Given the description of an element on the screen output the (x, y) to click on. 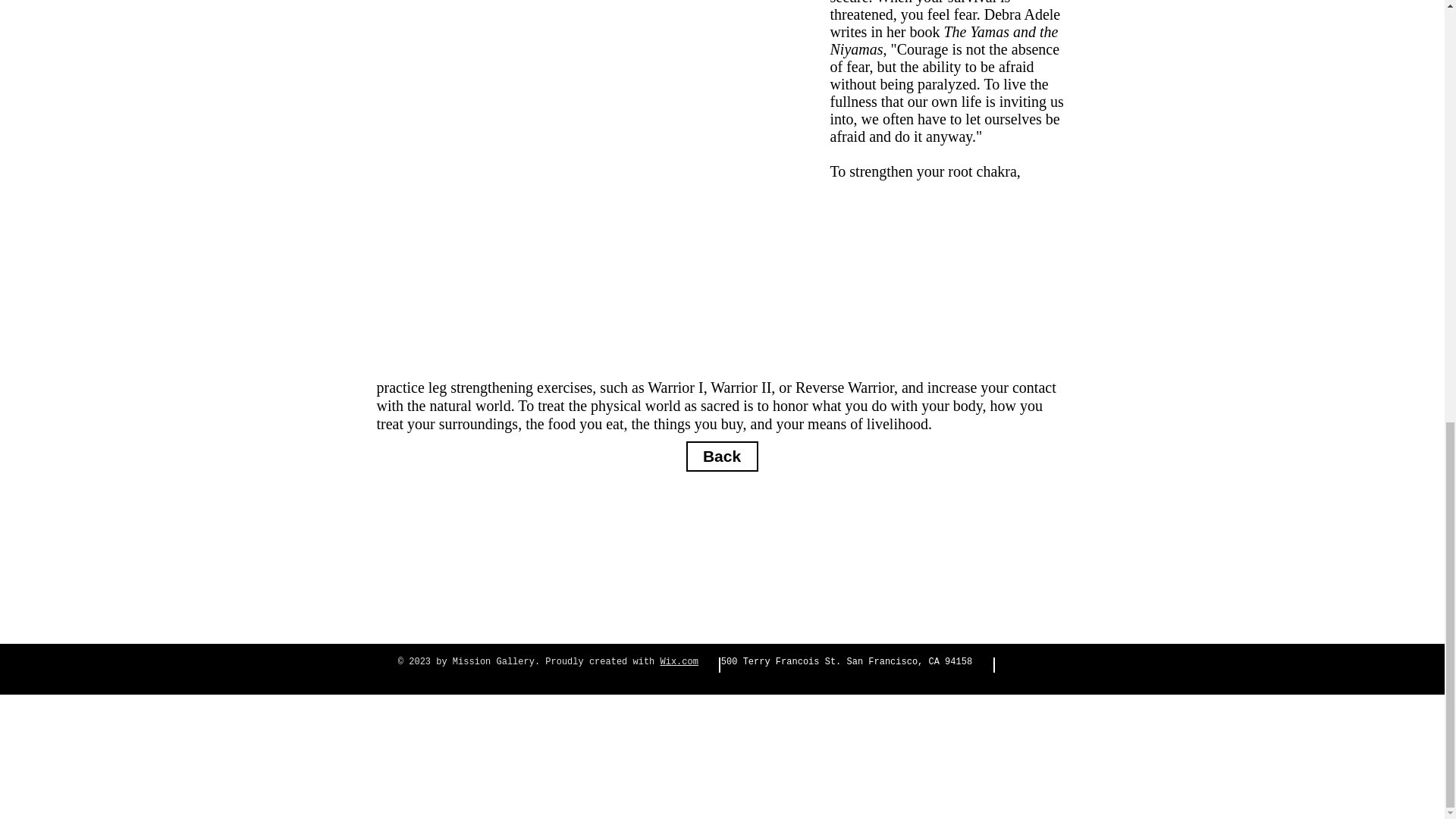
Back (721, 456)
Wix.com (679, 661)
